Given the description of an element on the screen output the (x, y) to click on. 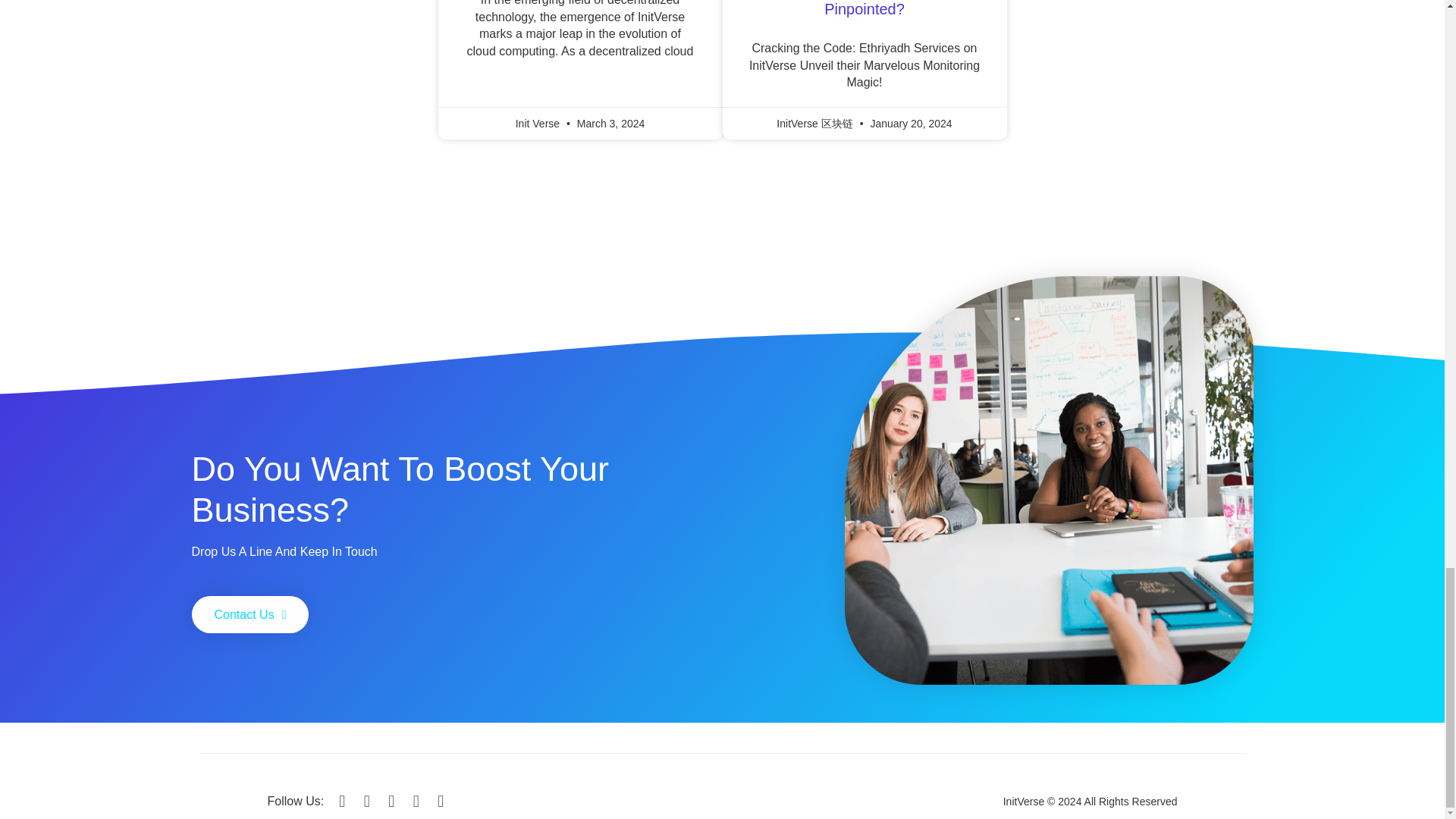
Contact Us (249, 614)
